Given the description of an element on the screen output the (x, y) to click on. 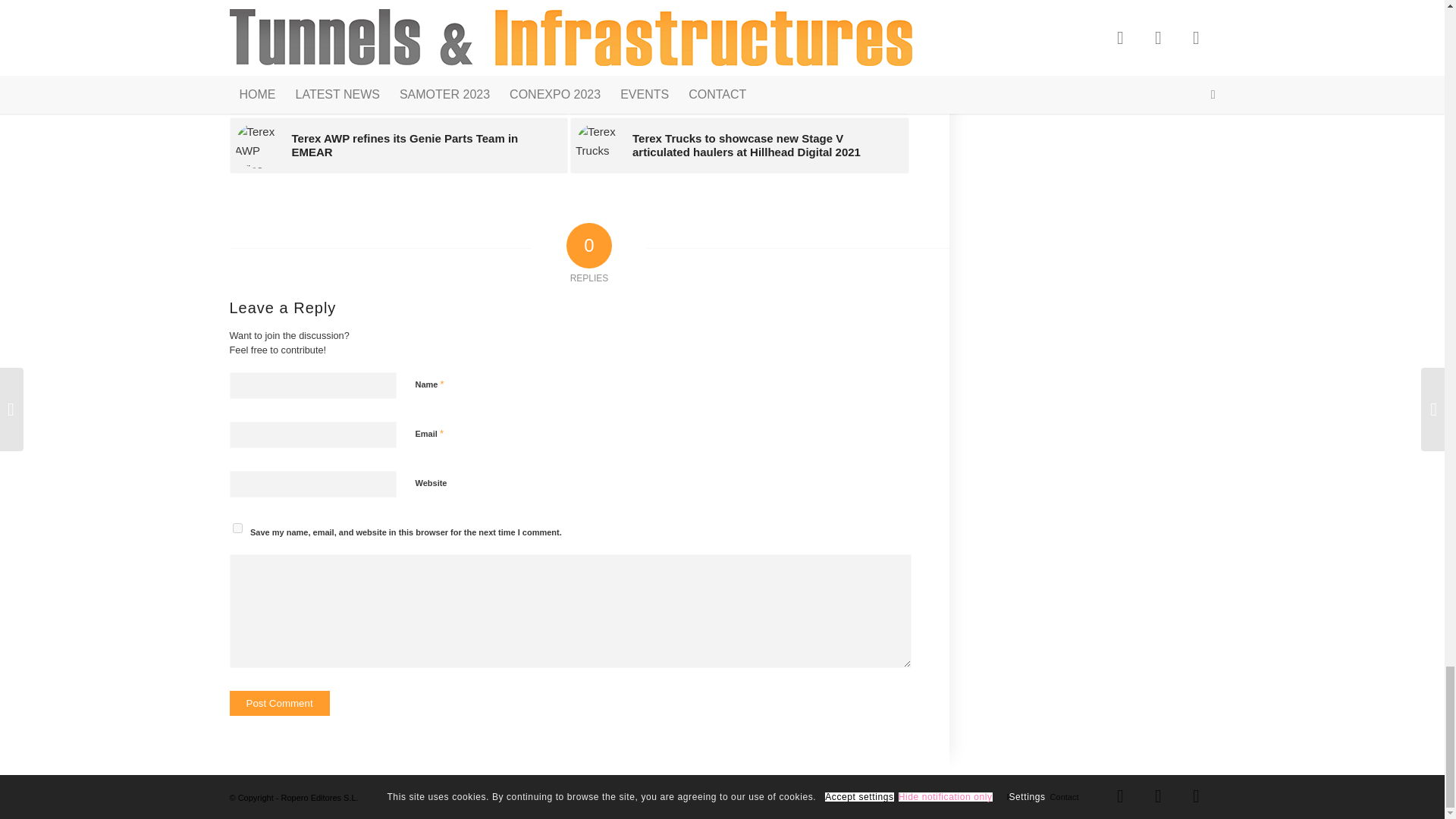
1 (423, 560)
yes (236, 528)
Post Comment (278, 703)
